Given the description of an element on the screen output the (x, y) to click on. 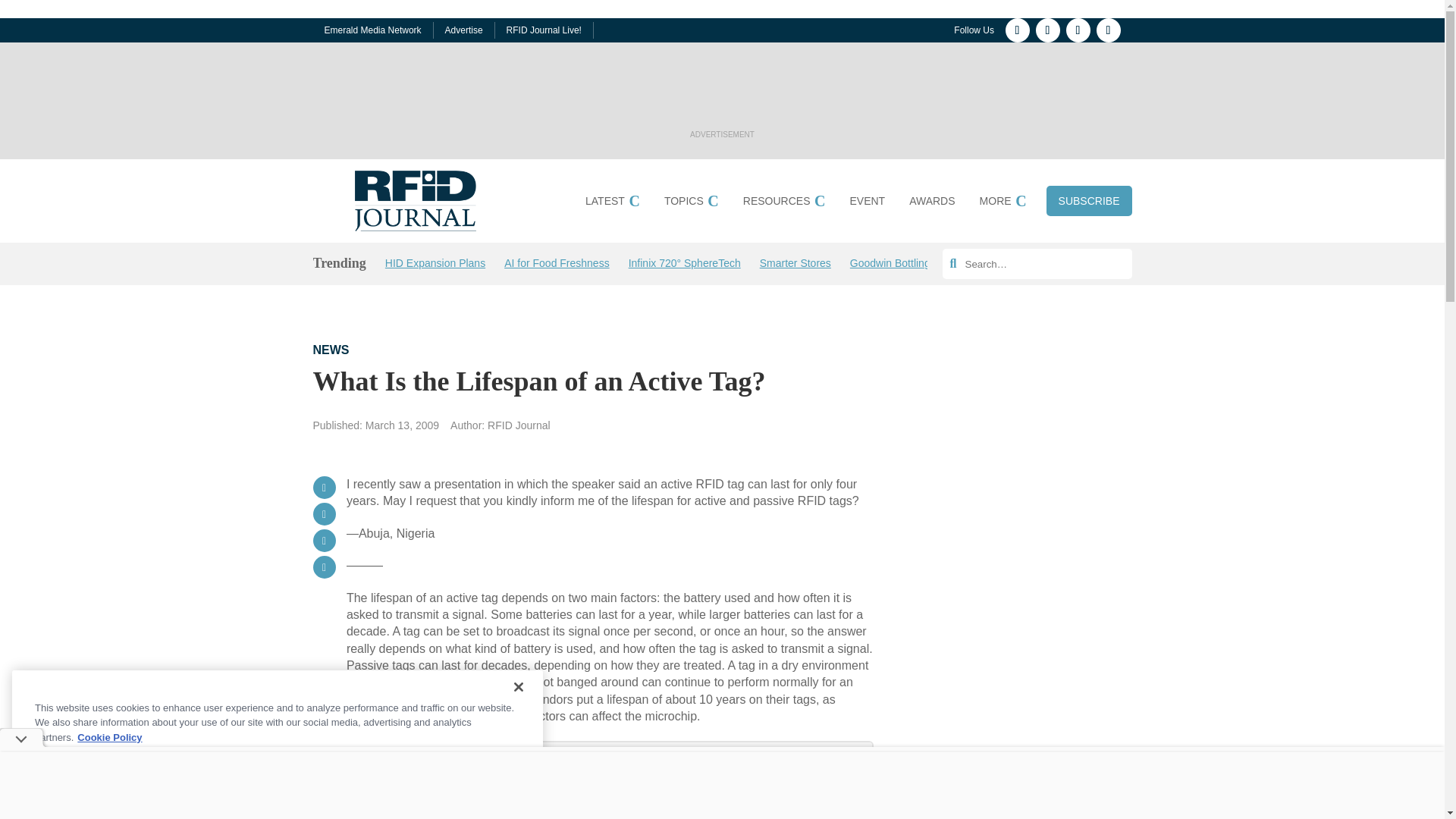
MORE (1002, 203)
Follow on LinkedIn (1047, 30)
RESOURCES (783, 203)
Advertise (464, 30)
Embedded CTA (610, 780)
RFID Journal Live! (543, 30)
Follow on X (1077, 30)
3rd party ad content (721, 91)
Follow on Facebook (1017, 30)
EVENT (866, 203)
LATEST (612, 203)
Follow on Youtube (1108, 30)
TOPICS (691, 203)
Emerald Media Network (373, 30)
AWARDS (931, 203)
